Given the description of an element on the screen output the (x, y) to click on. 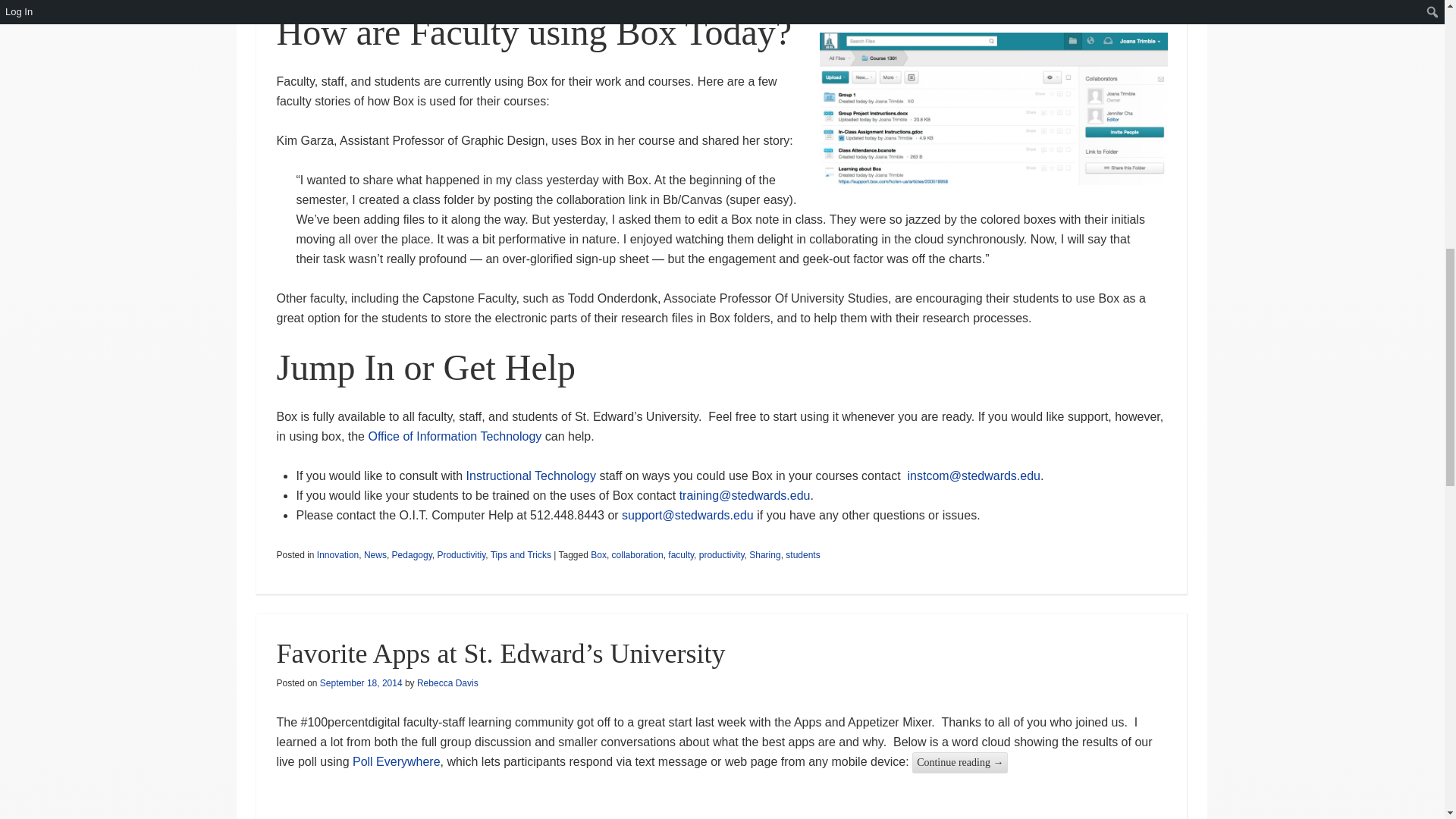
Innovation (337, 554)
News (375, 554)
Box (599, 554)
productivity (721, 554)
8:00 am (361, 683)
Tips and Tricks (520, 554)
students (802, 554)
Sharing (764, 554)
collaboration (637, 554)
Instructional Technology (530, 475)
Productivitiy (460, 554)
Pedagogy (411, 554)
View all posts by Rebecca Davis (447, 683)
faculty (681, 554)
Office of Information Technology (454, 436)
